Given the description of an element on the screen output the (x, y) to click on. 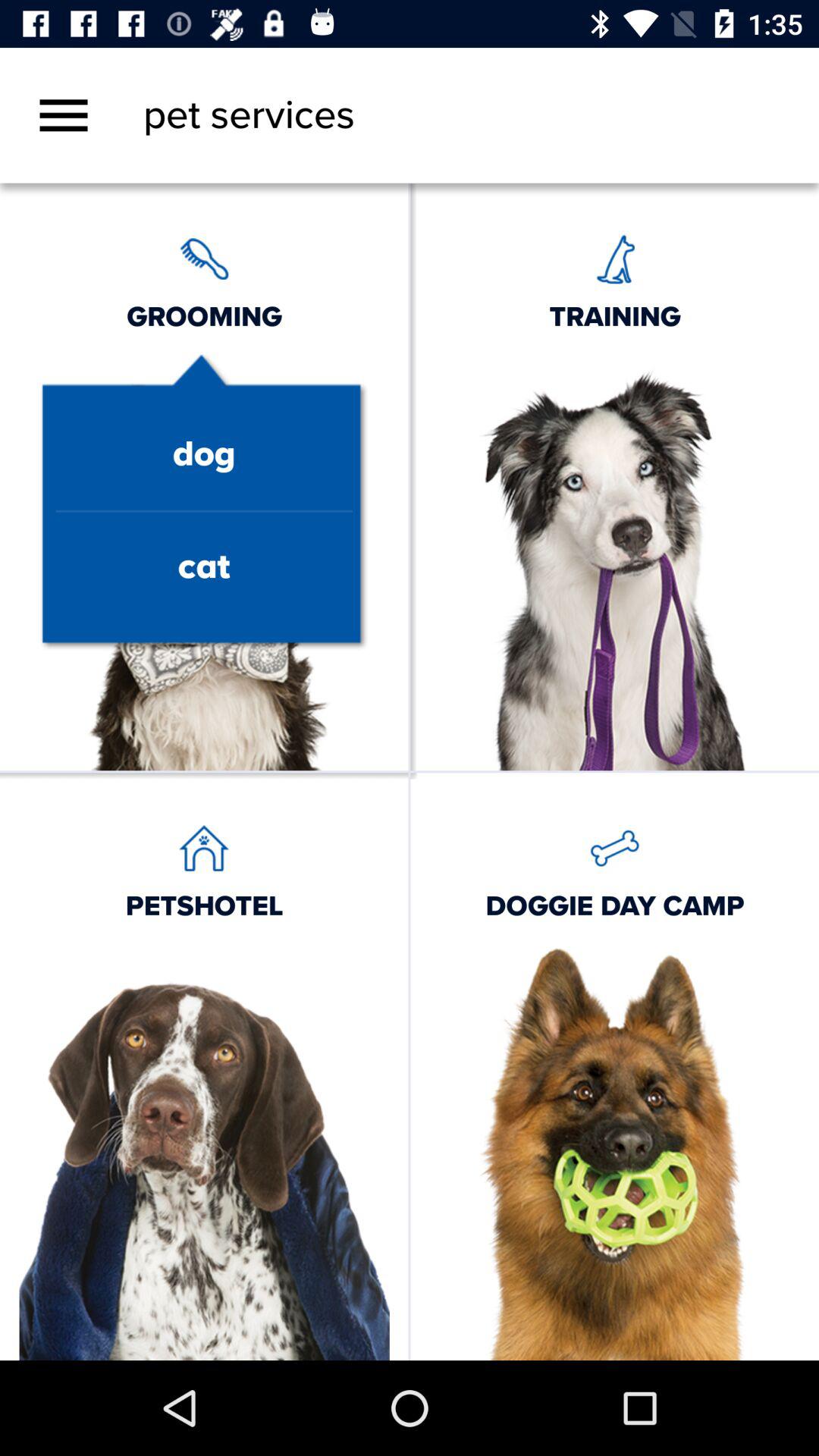
choose the icon above the text doggie day camp (614, 847)
click on the icon which is above the text grooming (204, 257)
click on the text cat (204, 567)
select the bottom right image (615, 1149)
